Given the description of an element on the screen output the (x, y) to click on. 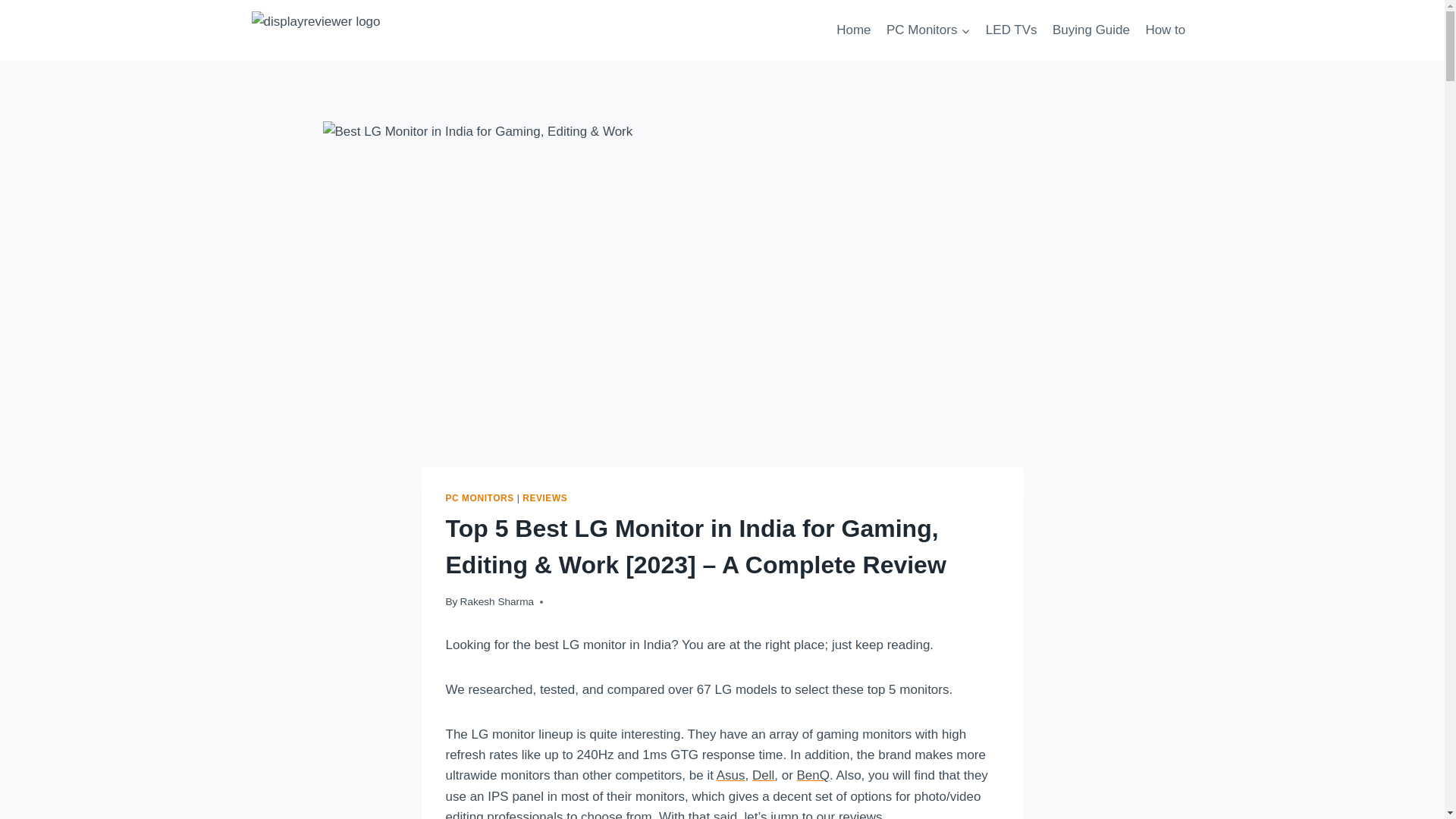
PC MONITORS (479, 498)
LED TVs (1011, 30)
PC Monitors (928, 30)
REVIEWS (544, 498)
Dell (763, 775)
Buying Guide (1091, 30)
BenQ (812, 775)
Home (853, 30)
Asus (730, 775)
Rakesh Sharma (497, 601)
